Given the description of an element on the screen output the (x, y) to click on. 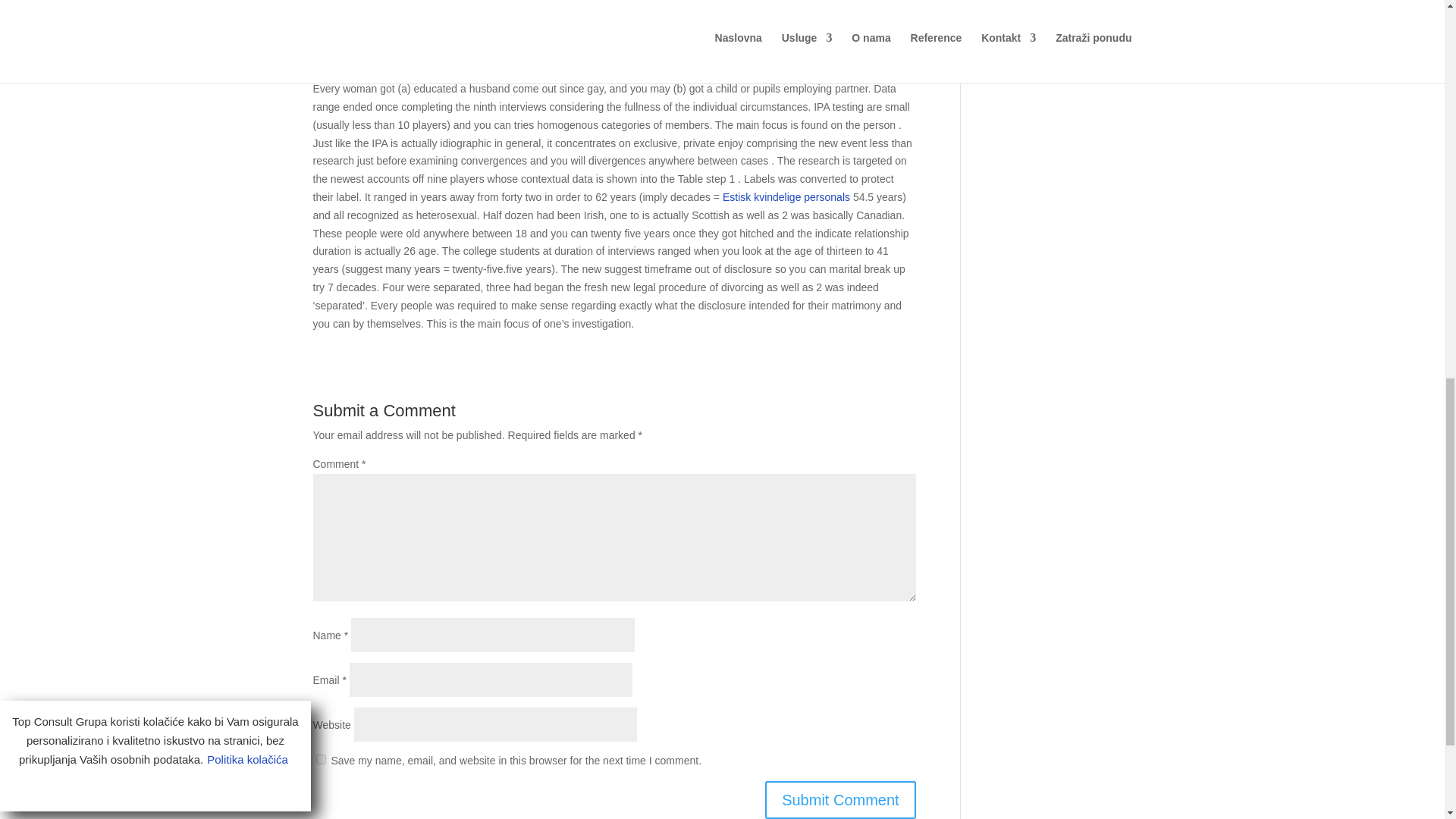
Submit Comment (840, 800)
yes (319, 759)
Submit Comment (840, 800)
Estisk kvindelige personals (786, 196)
